Given the description of an element on the screen output the (x, y) to click on. 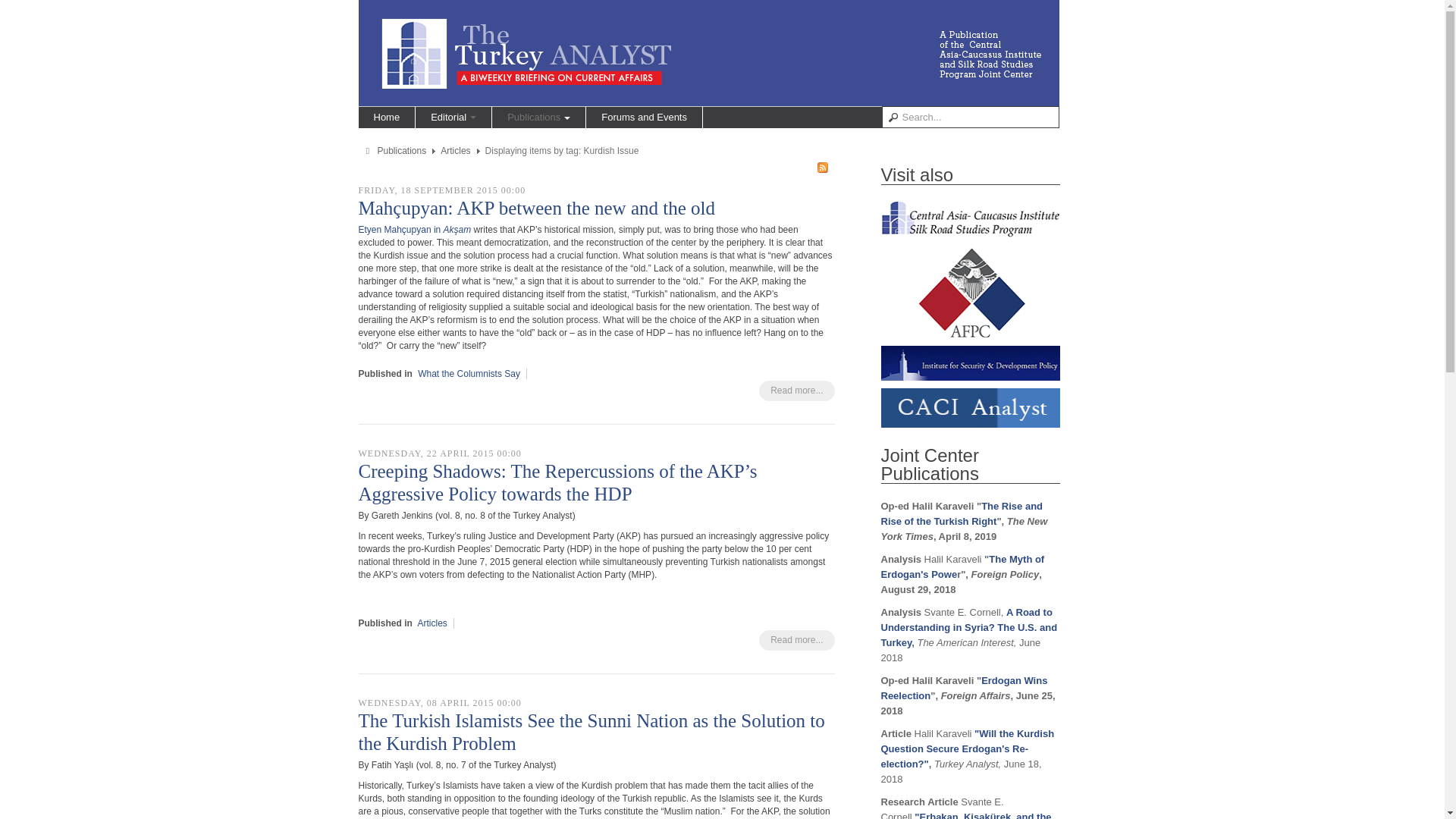
Home (386, 117)
Forums and Events (643, 117)
Articles (431, 623)
Read more... (796, 390)
Publications (401, 150)
Read more... (796, 639)
Articles (455, 150)
What the Columnists Say (468, 373)
Subscribe to this RSS feed (821, 167)
